Given the description of an element on the screen output the (x, y) to click on. 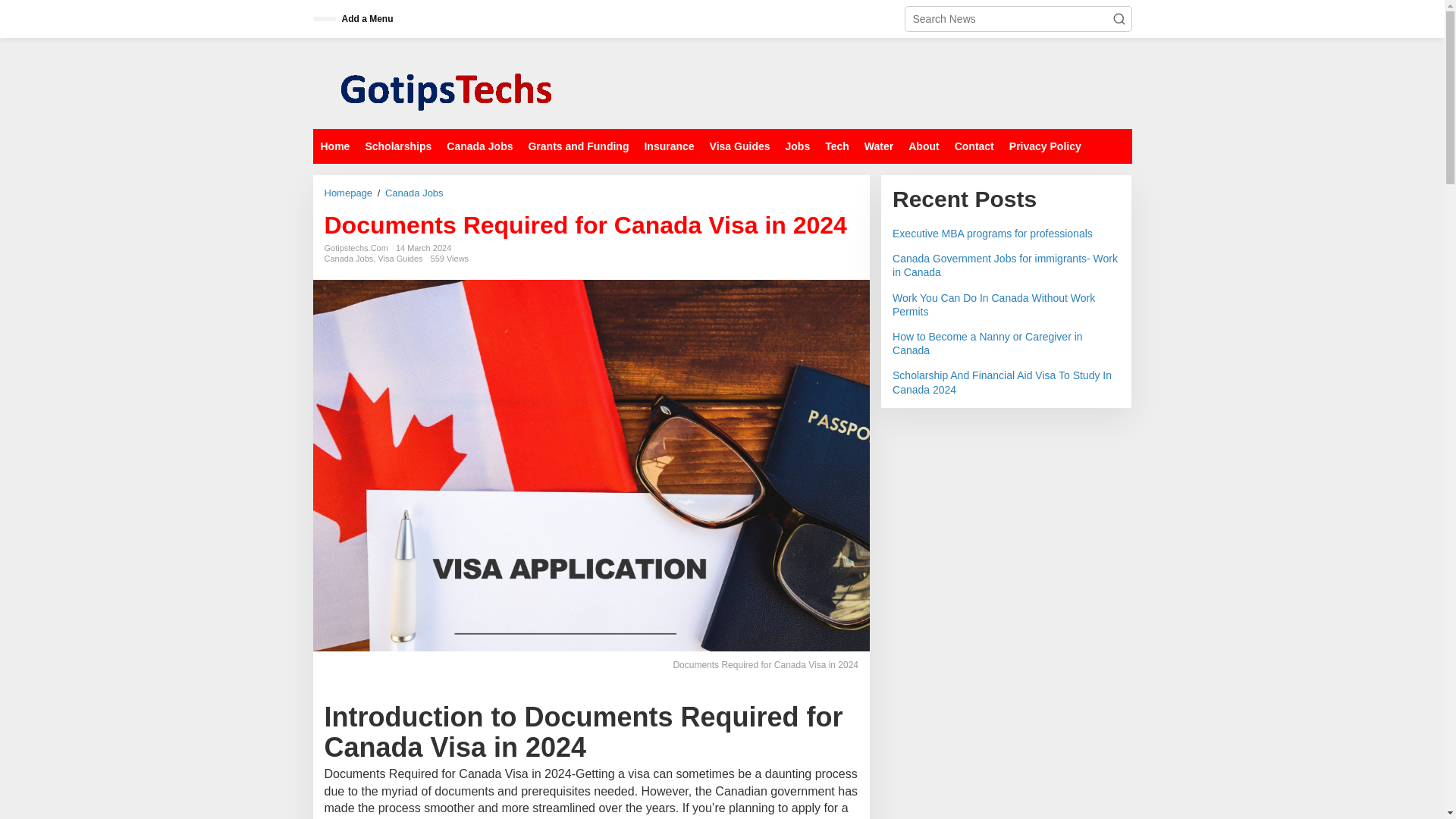
Canada Jobs (349, 257)
Permalink to: gotipstechs.com (356, 247)
Jobs (797, 145)
Canada Jobs (479, 145)
Visa Guides (399, 257)
Contact (974, 145)
Privacy Policy (1045, 145)
Canada Jobs (414, 193)
Tech (836, 145)
Gotipstechs.com (445, 82)
